Given the description of an element on the screen output the (x, y) to click on. 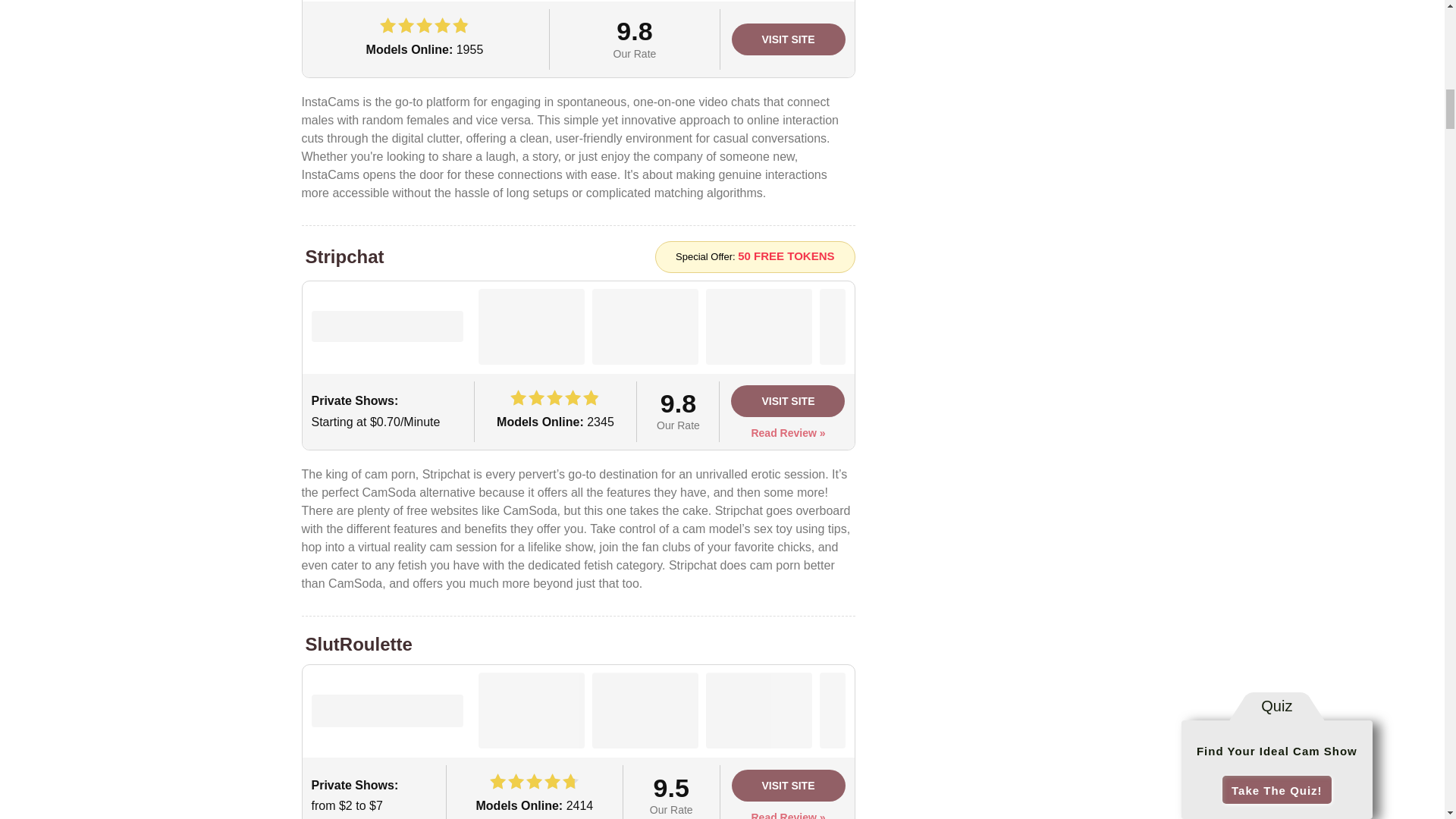
Our Score (526, 779)
Our Score (417, 23)
Our Score (548, 395)
